Given the description of an element on the screen output the (x, y) to click on. 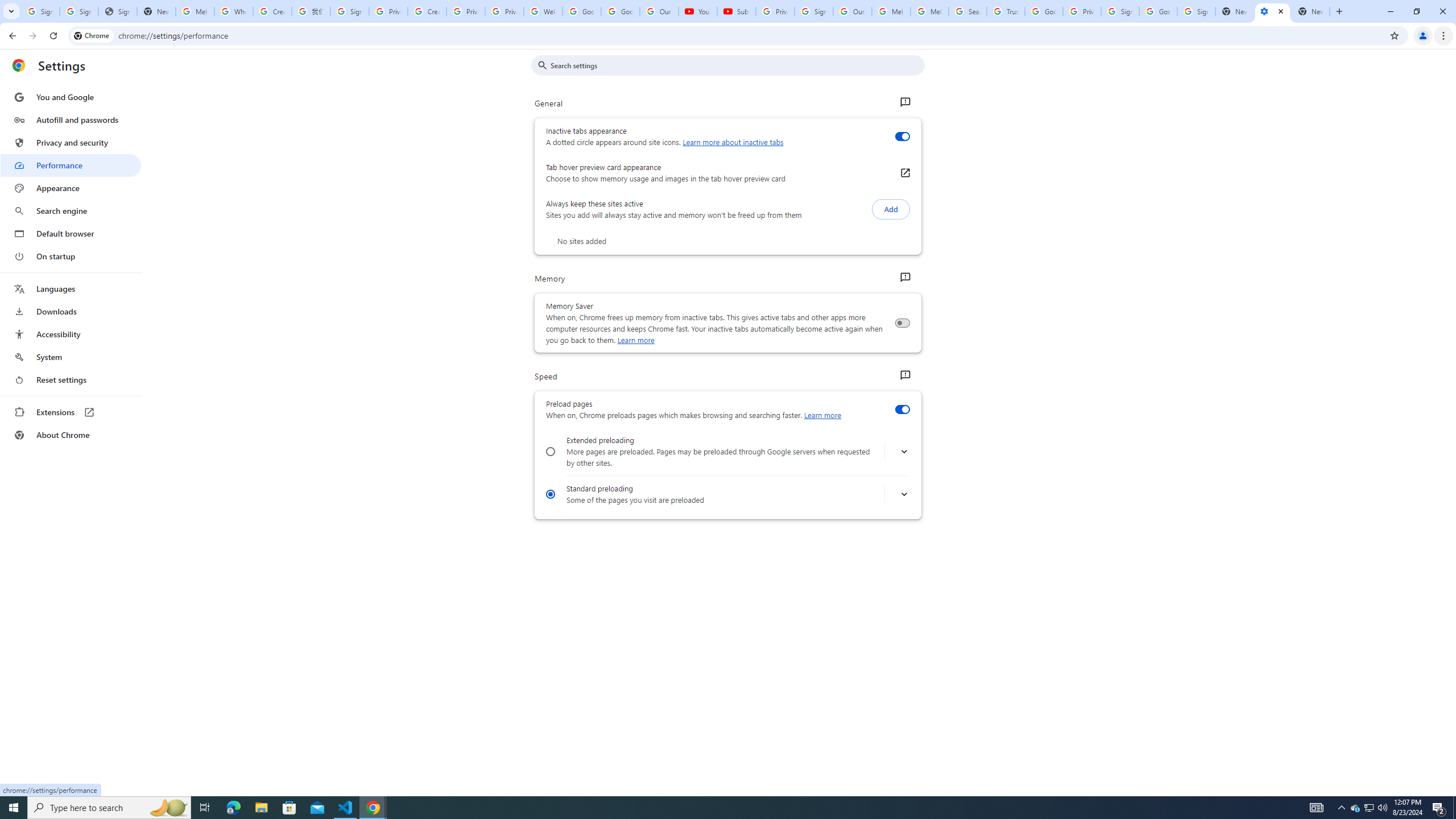
Sign in - Google Accounts (1196, 11)
Add to the "always keep these sites active" list (891, 209)
Search our Doodle Library Collection - Google Doodles (967, 11)
Default browser (70, 233)
Who is my administrator? - Google Account Help (233, 11)
Search settings (735, 65)
Sign in - Google Accounts (1120, 11)
Preload pages (901, 409)
